Given the description of an element on the screen output the (x, y) to click on. 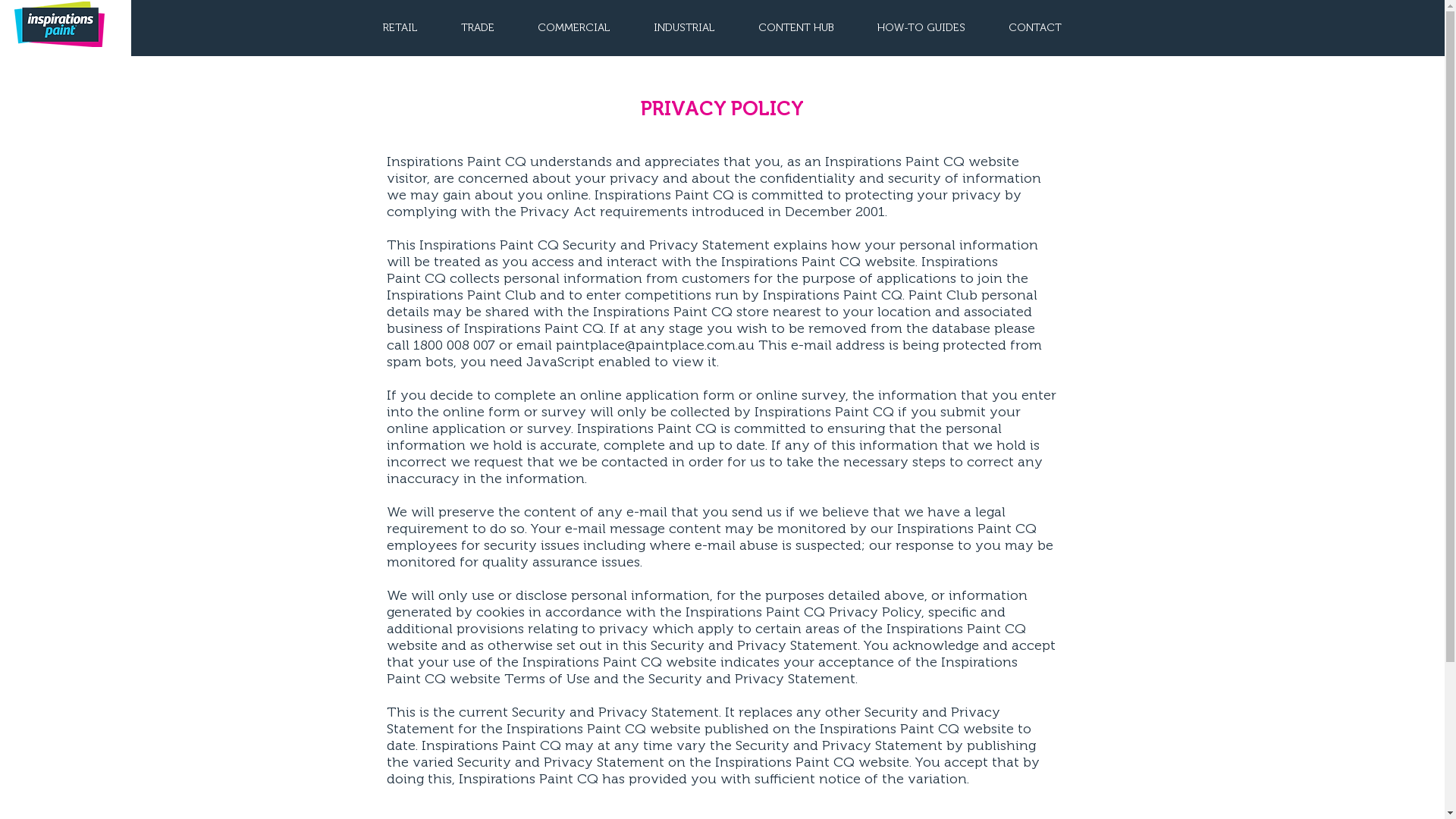
COMMERCIAL Element type: text (573, 28)
RETAIL Element type: text (399, 28)
CONTACT Element type: text (1035, 28)
HOW-TO GUIDES Element type: text (920, 28)
INDUSTRIAL Element type: text (684, 28)
paintplace@paintplace.com.au Element type: text (654, 344)
TRADE Element type: text (477, 28)
CONTENT HUB Element type: text (796, 28)
